Given the description of an element on the screen output the (x, y) to click on. 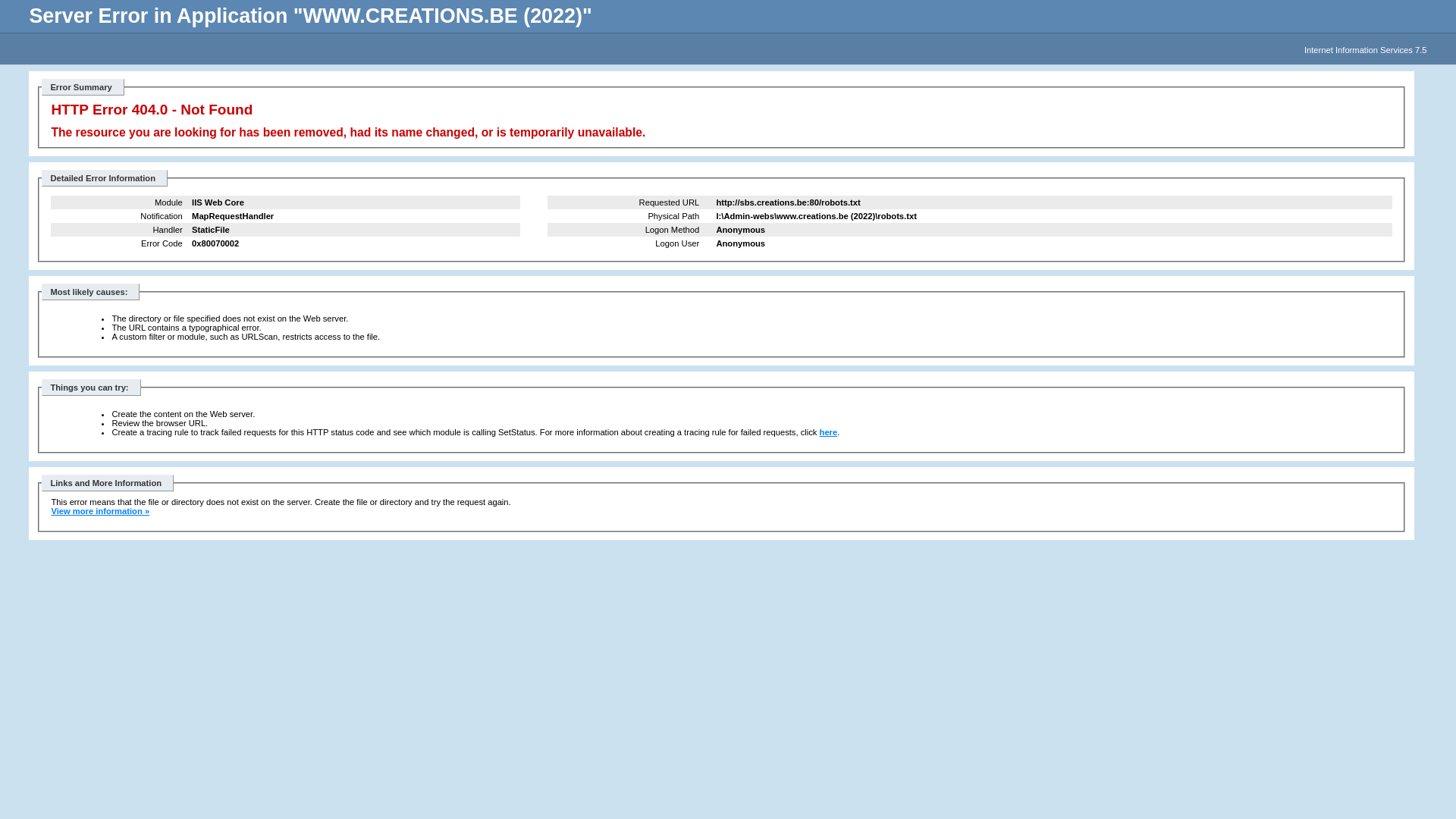
here Element type: text (828, 431)
